Given the description of an element on the screen output the (x, y) to click on. 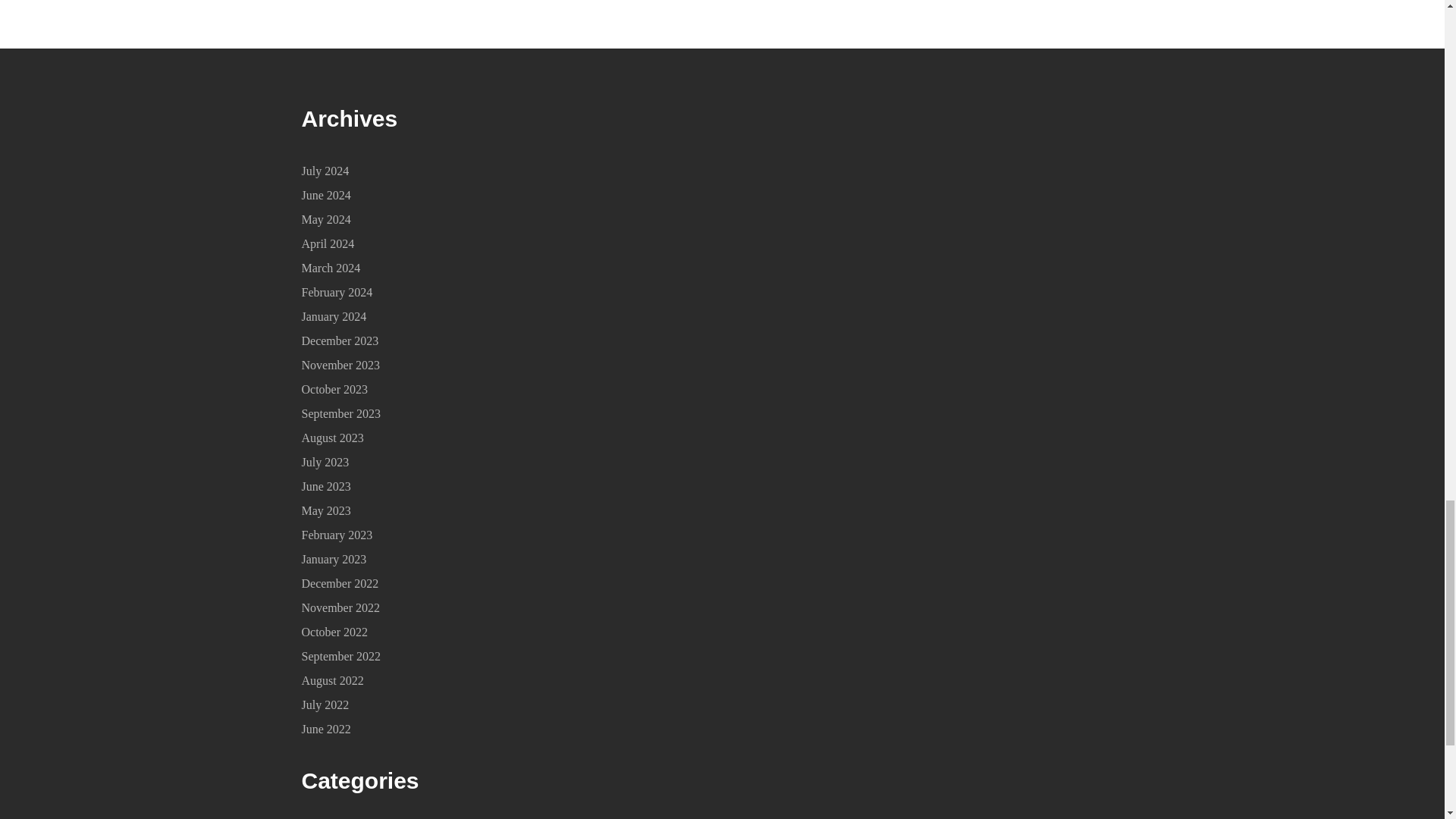
July 2024 (325, 170)
